Given the description of an element on the screen output the (x, y) to click on. 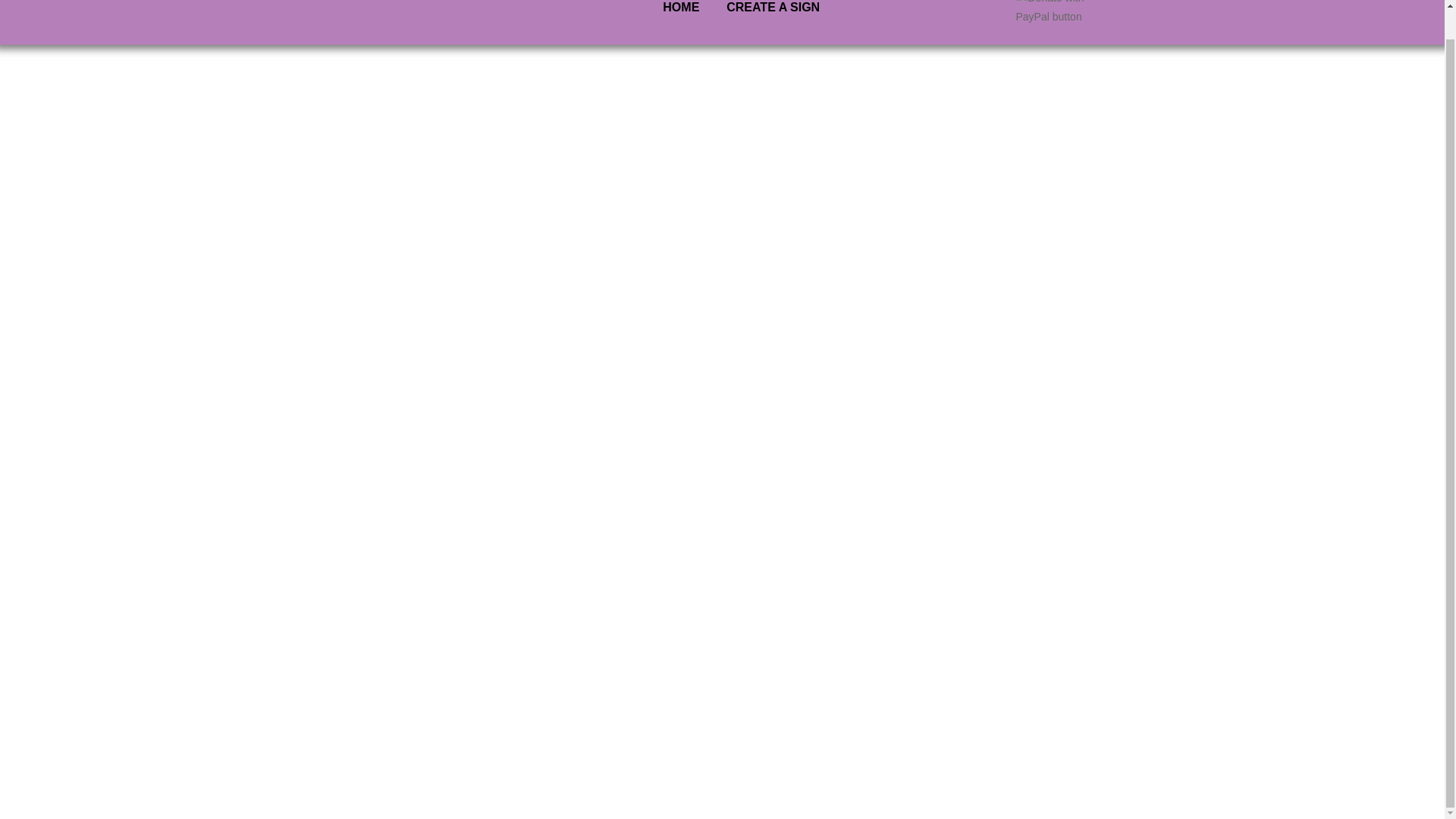
HOME (680, 14)
PayPal - The safer, easier way to pay online! (1063, 13)
CREATE A SIGN (772, 14)
